Given the description of an element on the screen output the (x, y) to click on. 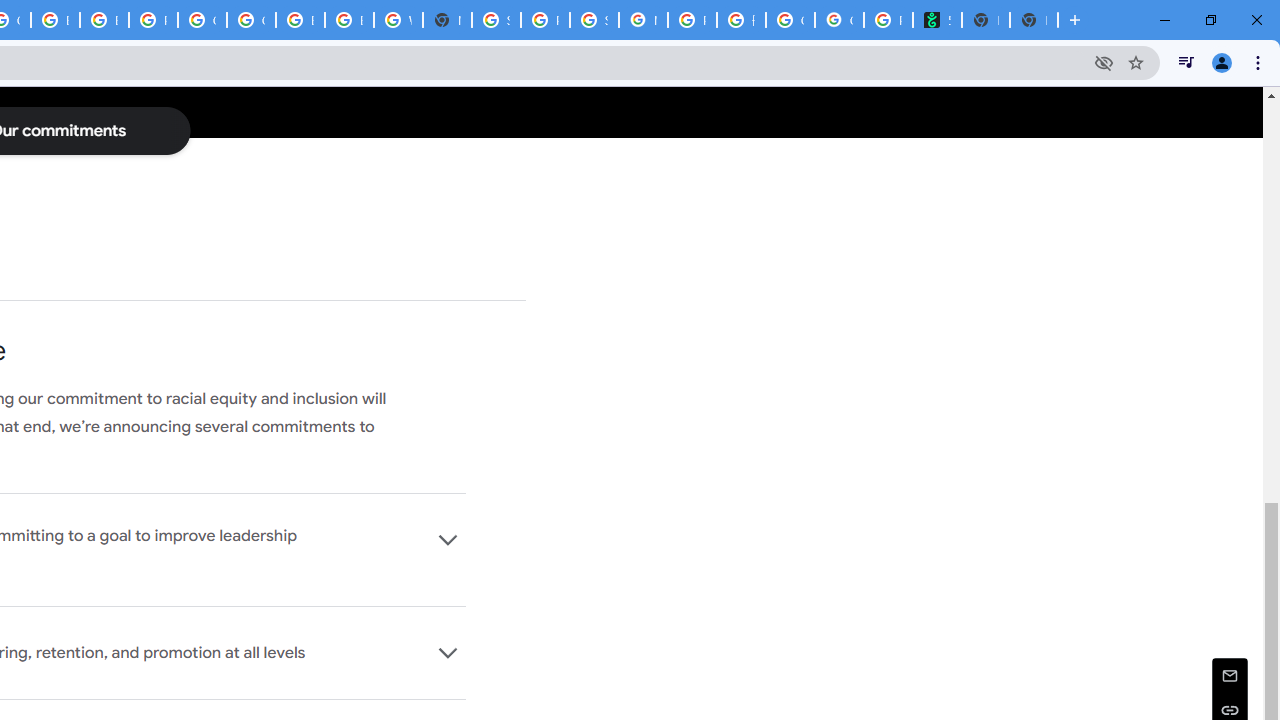
New Tab (1033, 20)
Share this page (Email) (1230, 674)
Browse Chrome as a guest - Computer - Google Chrome Help (300, 20)
Google Cloud Platform (201, 20)
